Given the description of an element on the screen output the (x, y) to click on. 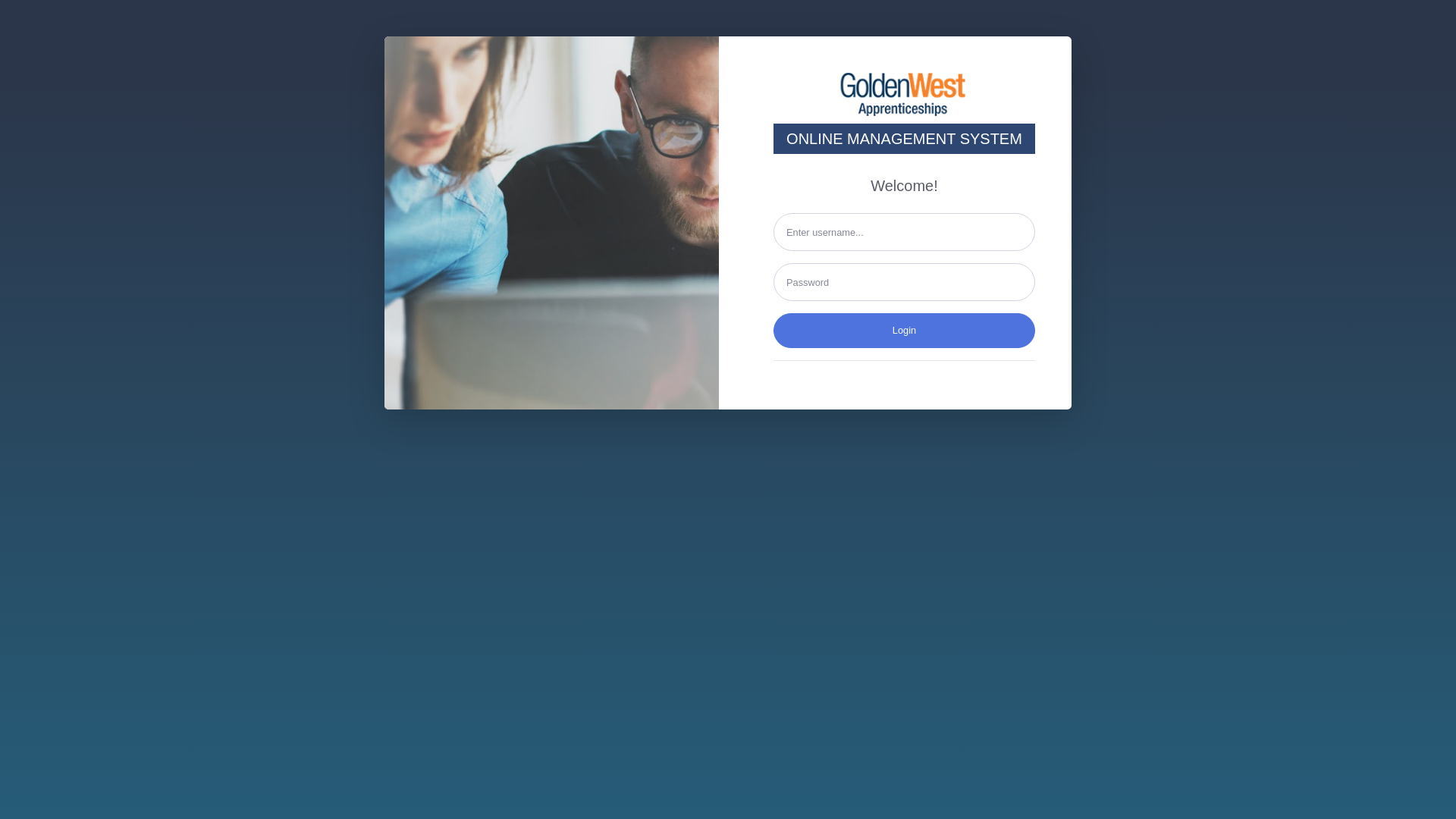
Login Element type: text (904, 330)
